Given the description of an element on the screen output the (x, y) to click on. 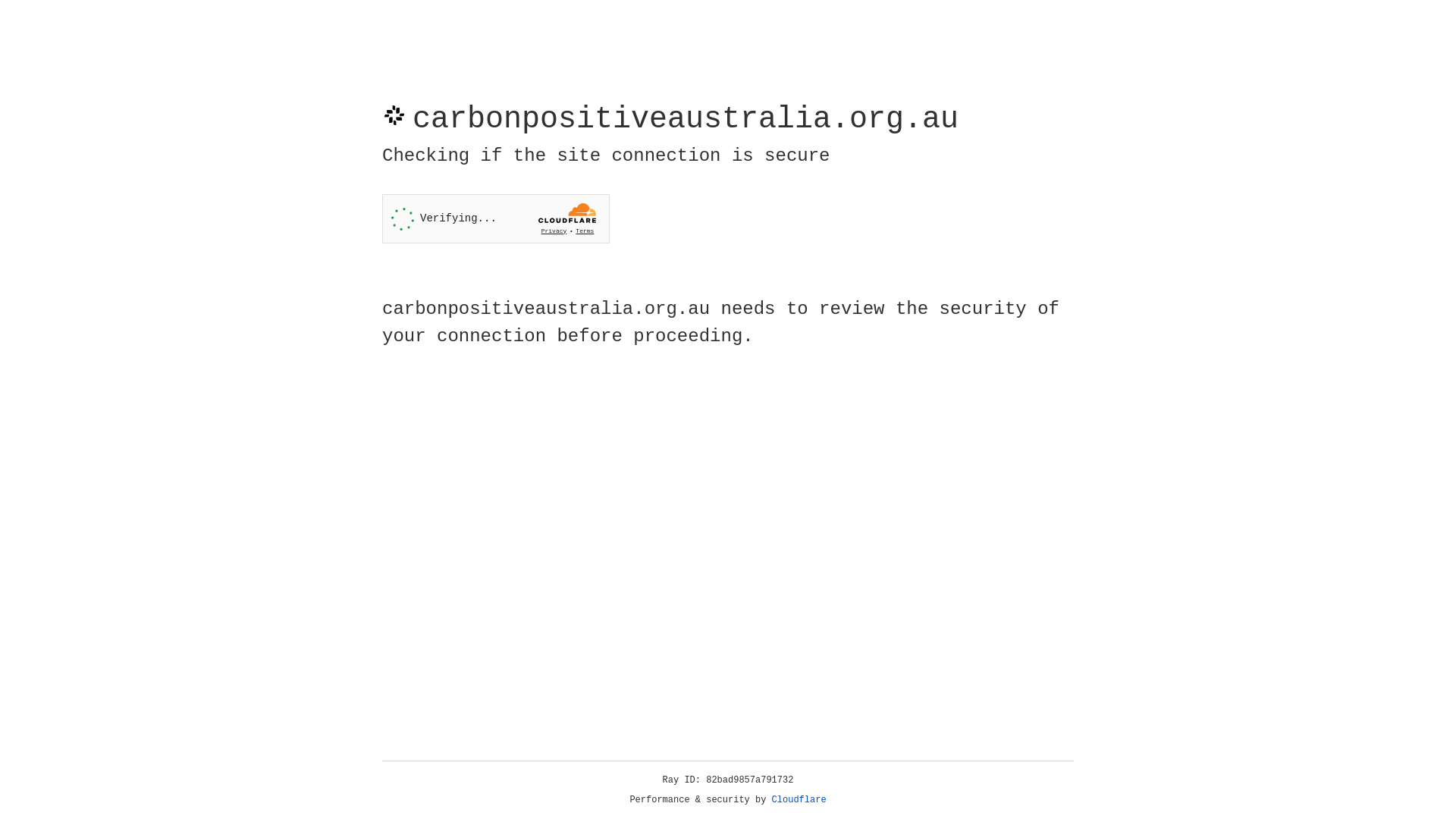
Widget containing a Cloudflare security challenge Element type: hover (495, 218)
Cloudflare Element type: text (798, 799)
